Given the description of an element on the screen output the (x, y) to click on. 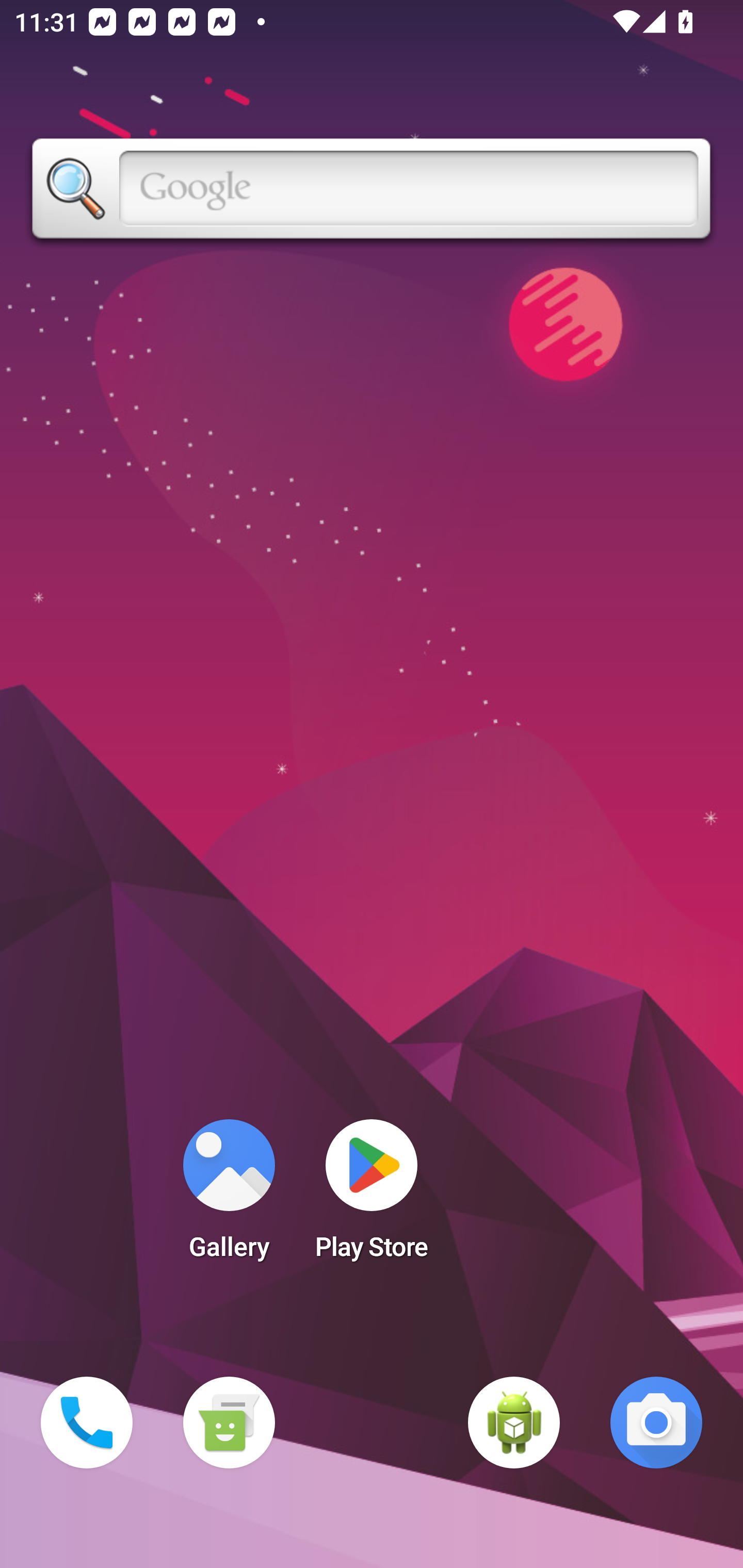
Gallery (228, 1195)
Play Store (371, 1195)
Phone (86, 1422)
Messaging (228, 1422)
WebView Browser Tester (513, 1422)
Camera (656, 1422)
